Given the description of an element on the screen output the (x, y) to click on. 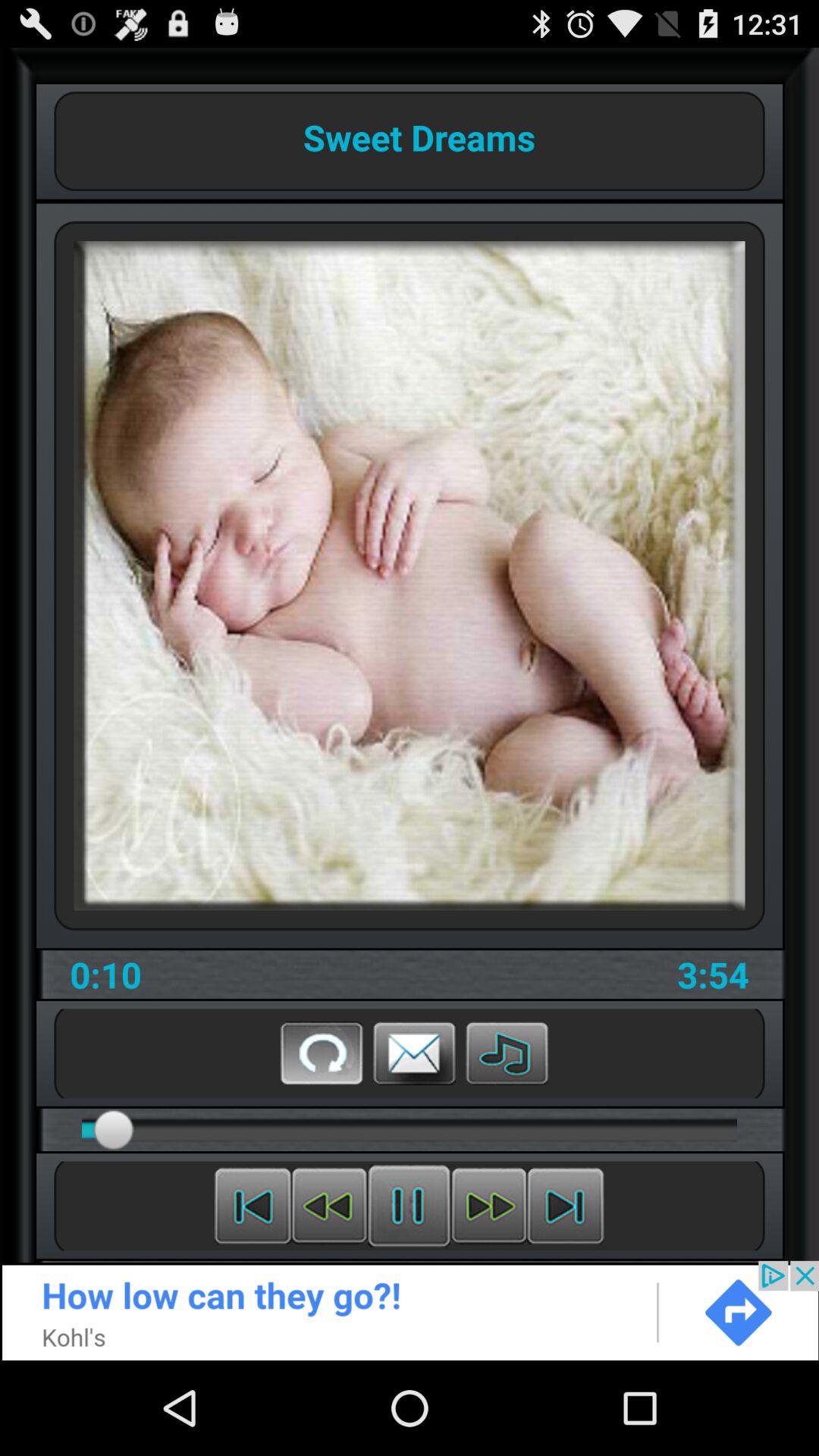
next song button (565, 1205)
